Given the description of an element on the screen output the (x, y) to click on. 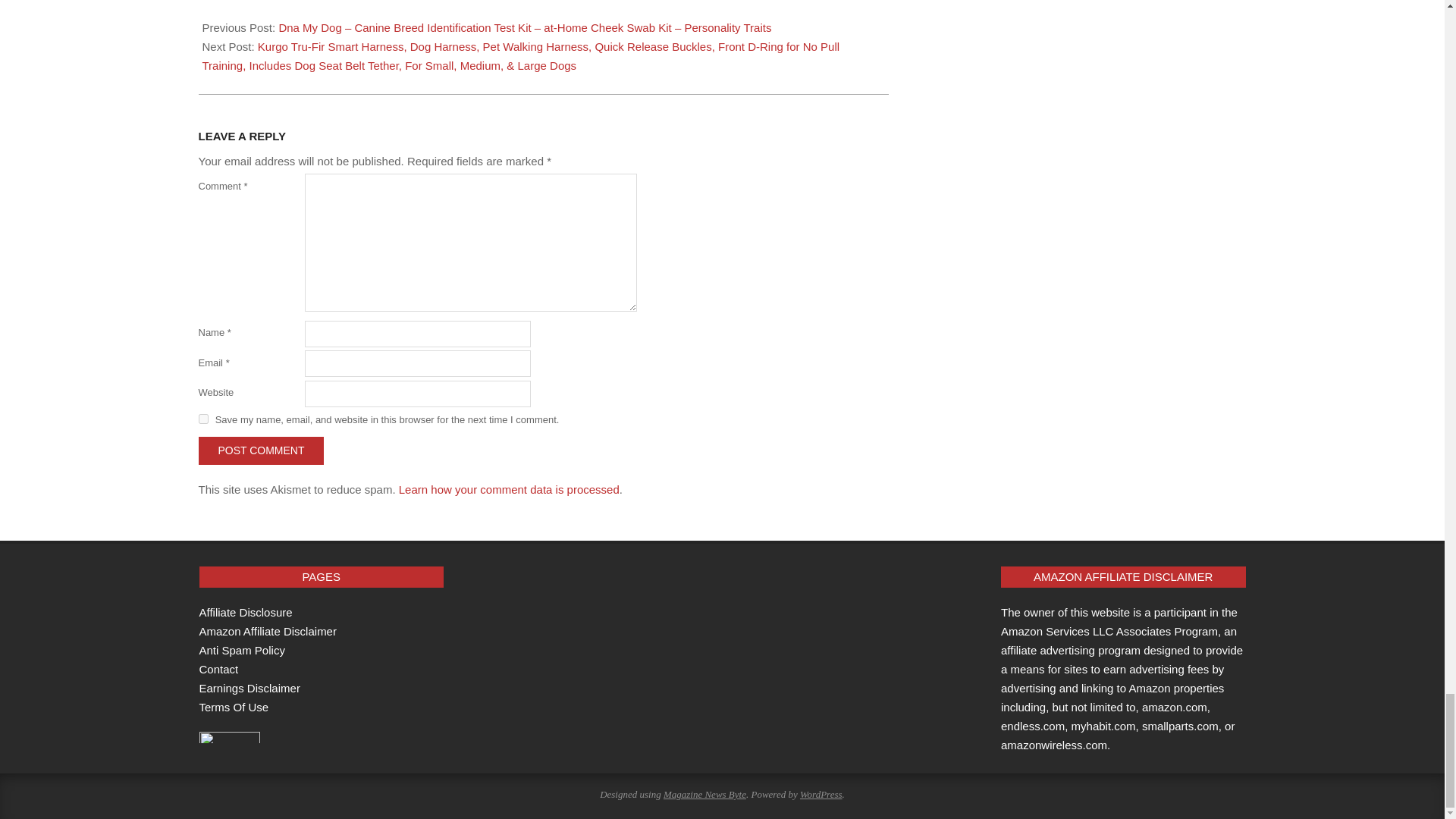
yes (203, 419)
Post Comment (261, 450)
